Given the description of an element on the screen output the (x, y) to click on. 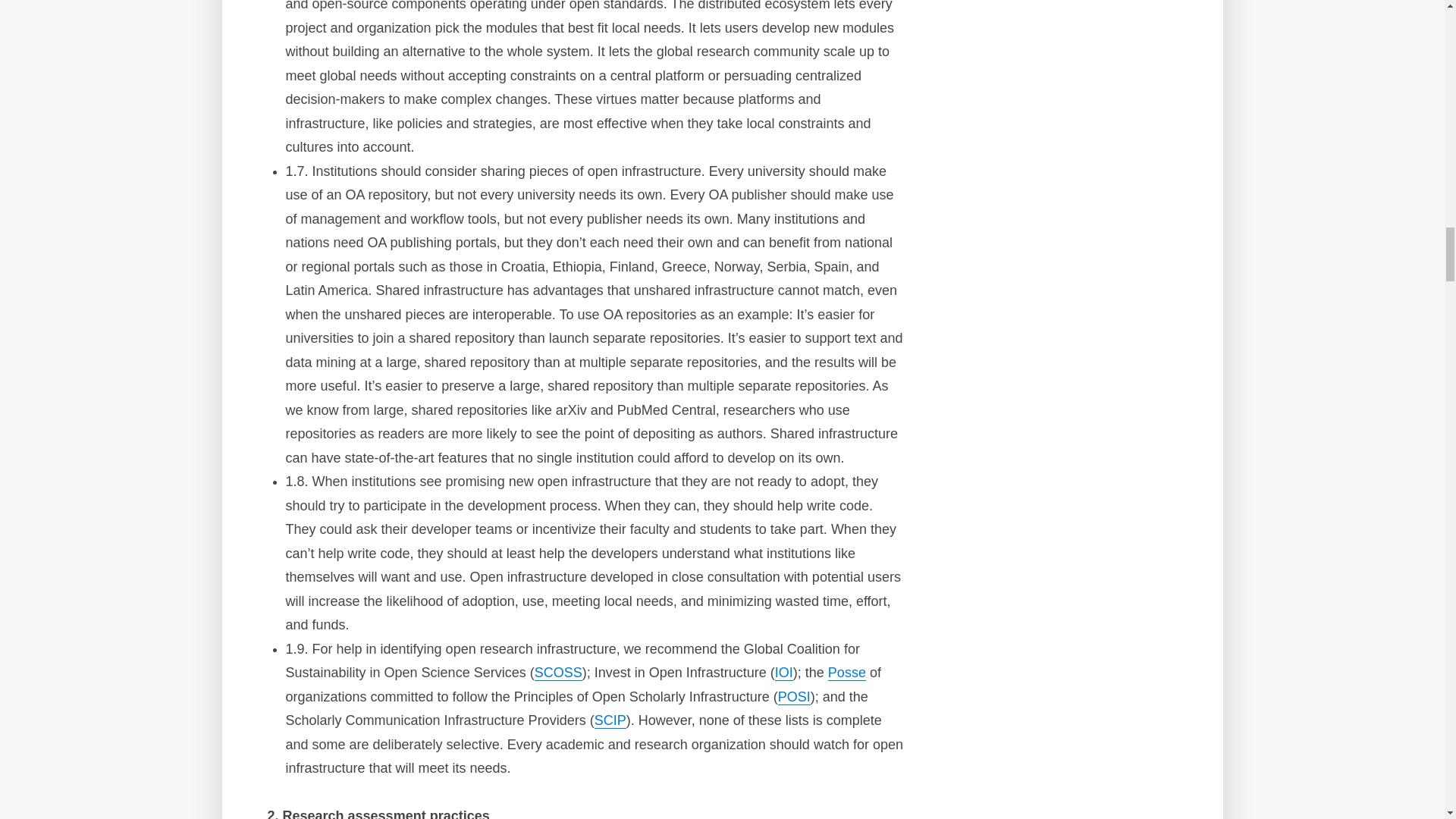
SCIP (610, 720)
Posse (847, 672)
IOI (783, 672)
SCOSS (558, 672)
POSI (793, 696)
